Given the description of an element on the screen output the (x, y) to click on. 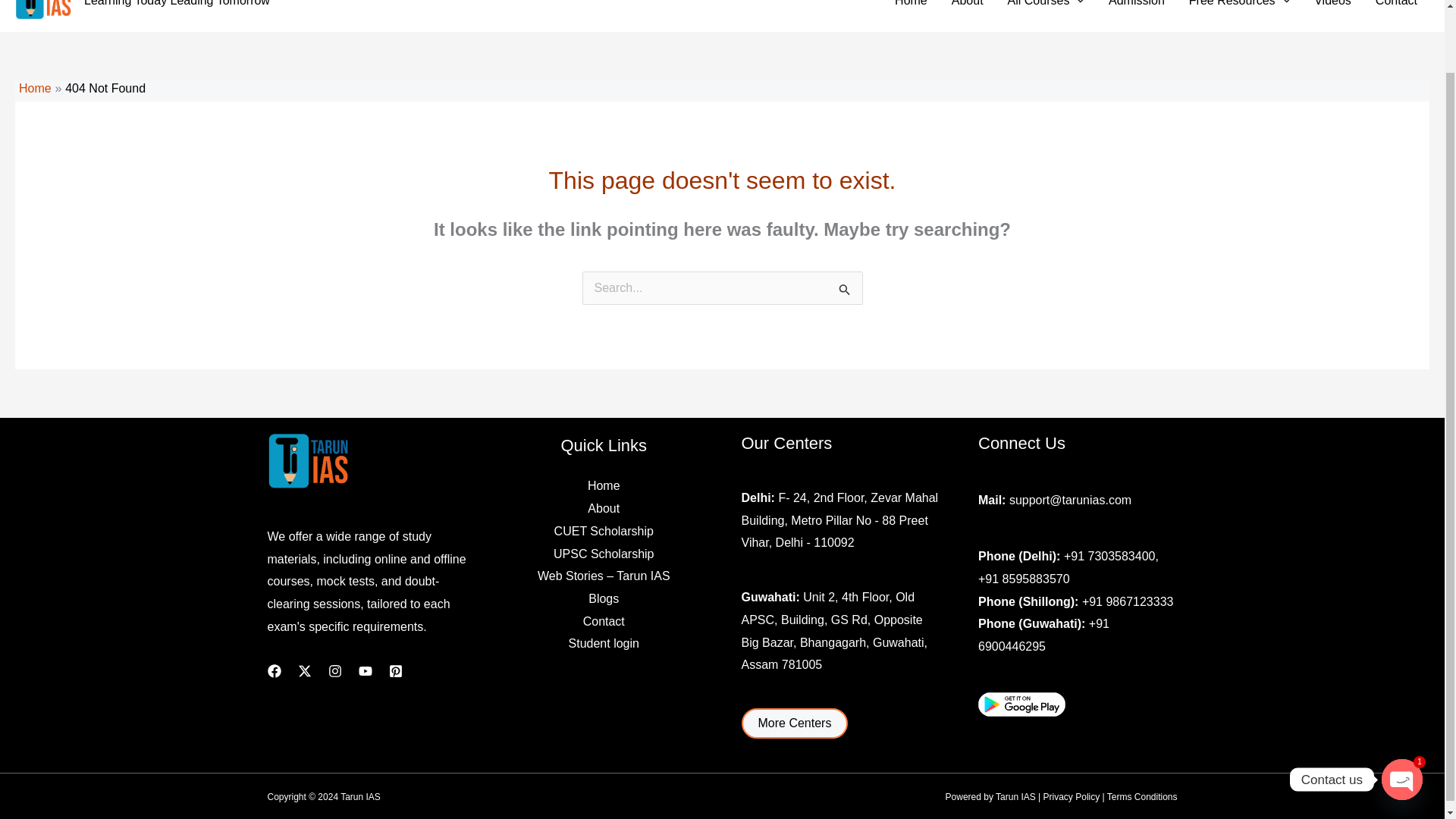
All Courses (1045, 6)
Home (34, 88)
About (967, 6)
Free Resources (1238, 6)
Videos (1331, 6)
Admission (1136, 6)
Home (910, 6)
Contact (1395, 6)
